Given the description of an element on the screen output the (x, y) to click on. 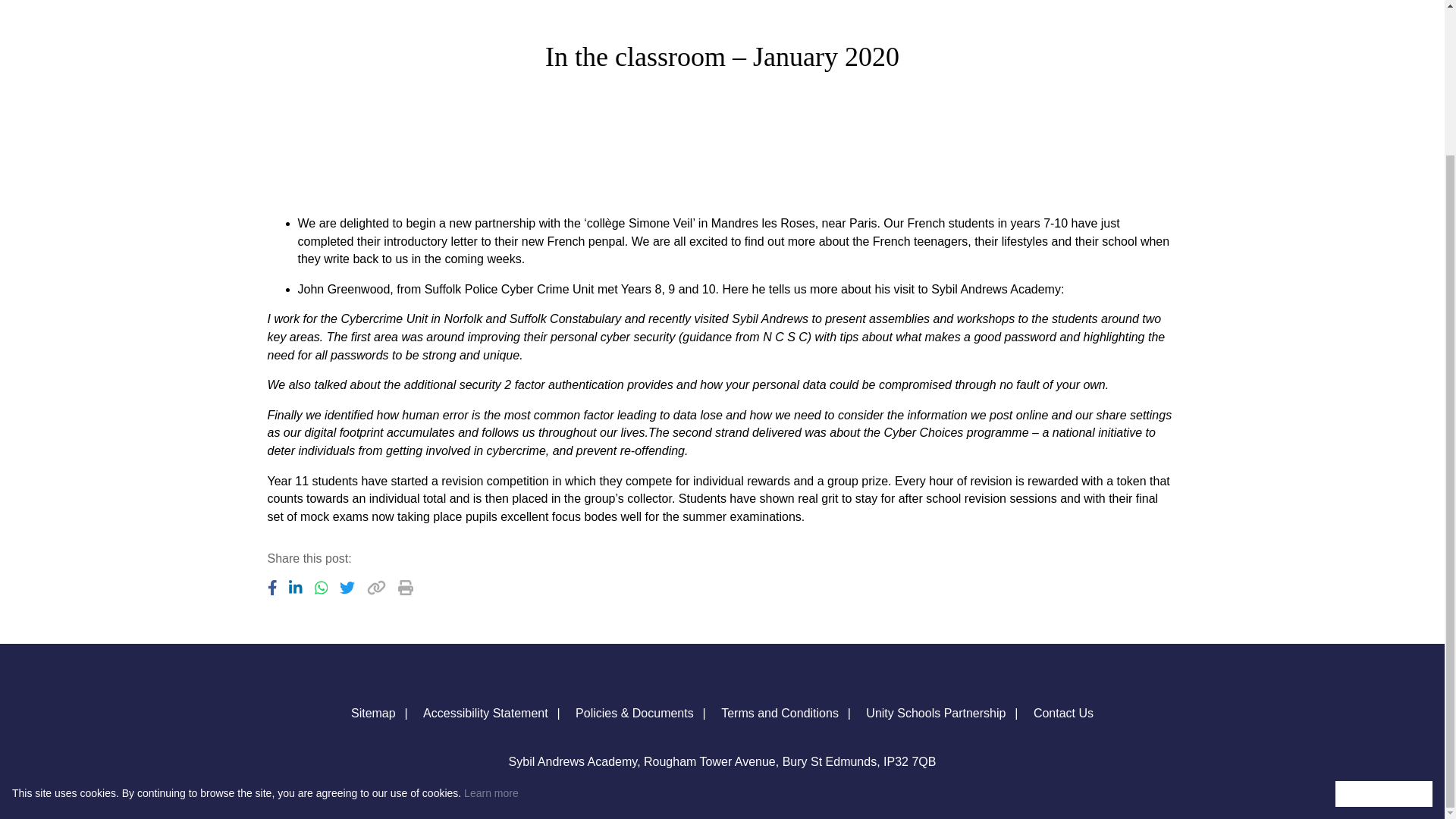
Copy URL (375, 587)
Share to Twitter (347, 587)
Copy URL (405, 587)
Share to LinkedIn (295, 587)
Share to WhatsApp (320, 587)
